Given the description of an element on the screen output the (x, y) to click on. 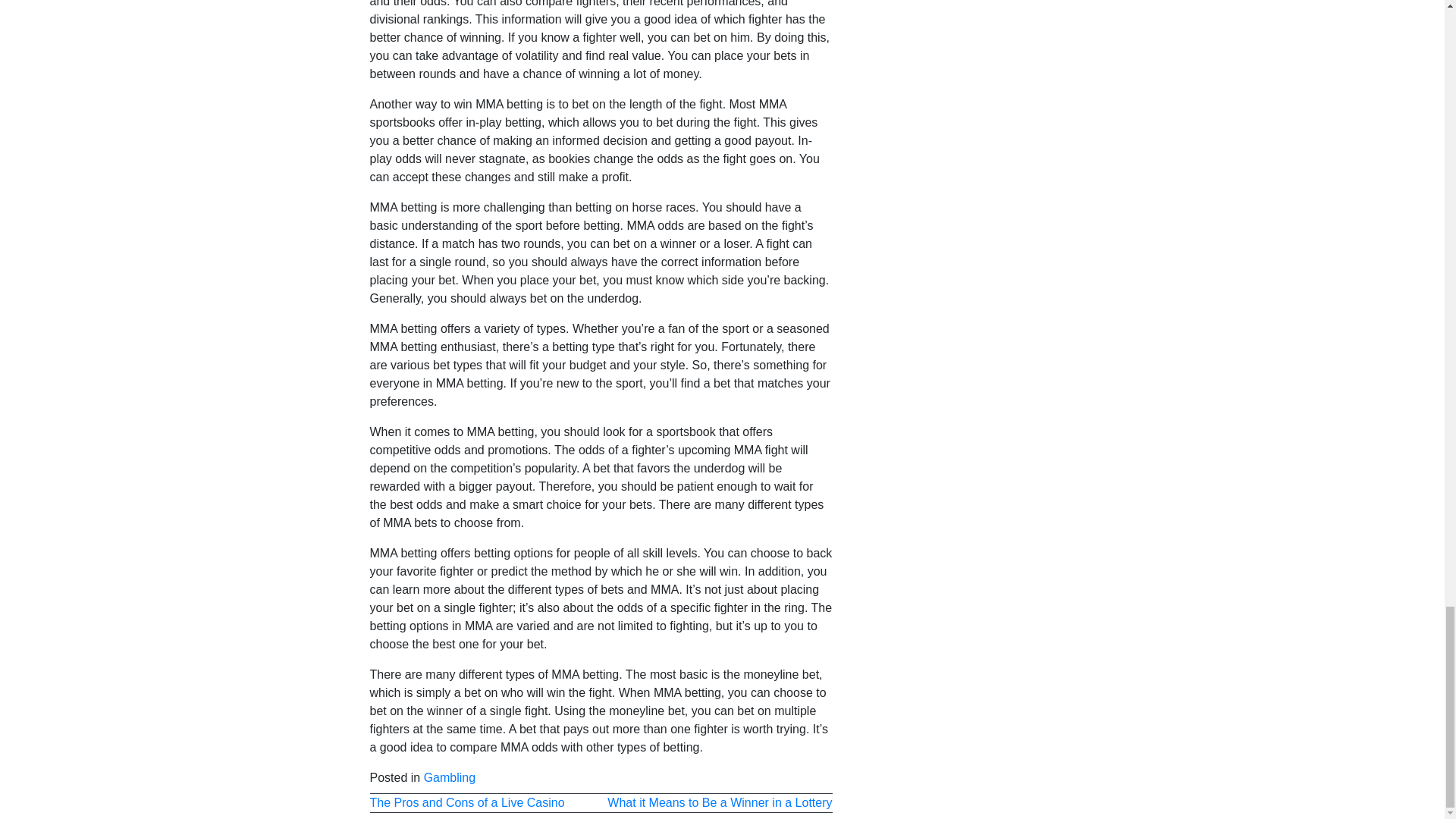
What it Means to Be a Winner in a Lottery (719, 802)
Gambling (449, 777)
The Pros and Cons of a Live Casino (466, 802)
